Given the description of an element on the screen output the (x, y) to click on. 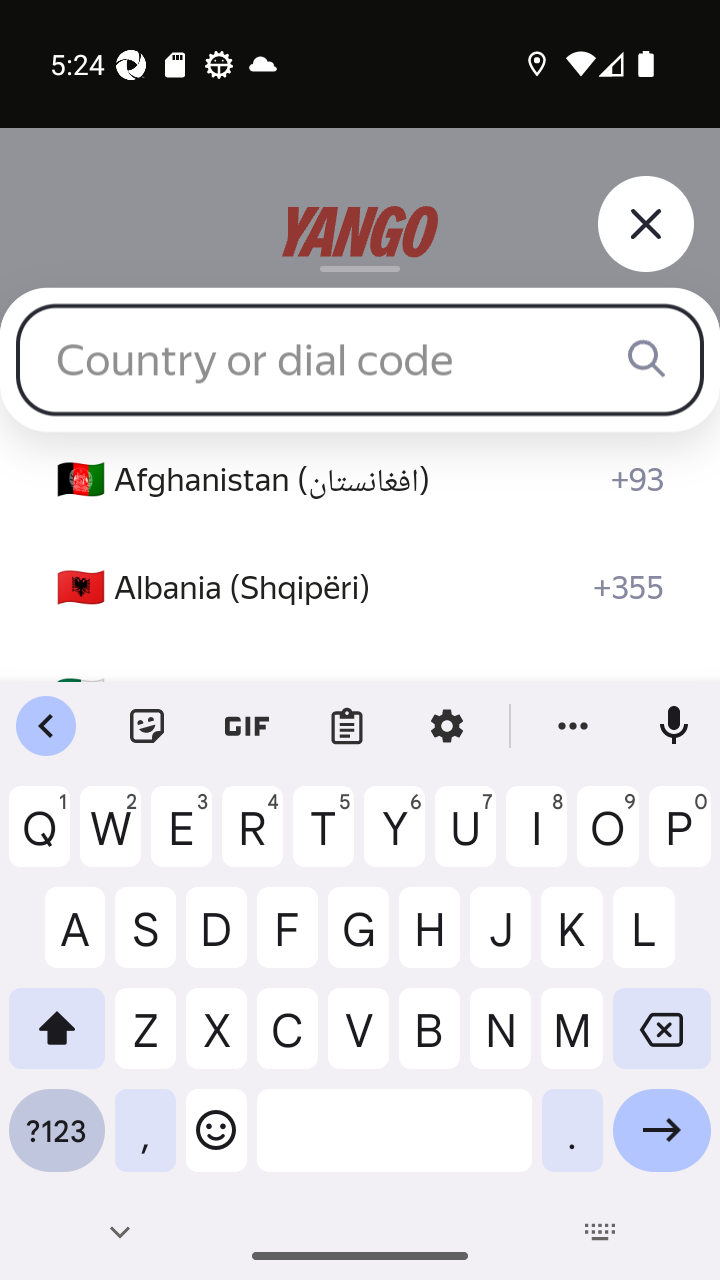
🇦🇫 Afghanistan (‫افغانستان‬‎) +93 (359, 479)
🇦🇱 Albania (Shqipëri) +355 (359, 588)
